Given the description of an element on the screen output the (x, y) to click on. 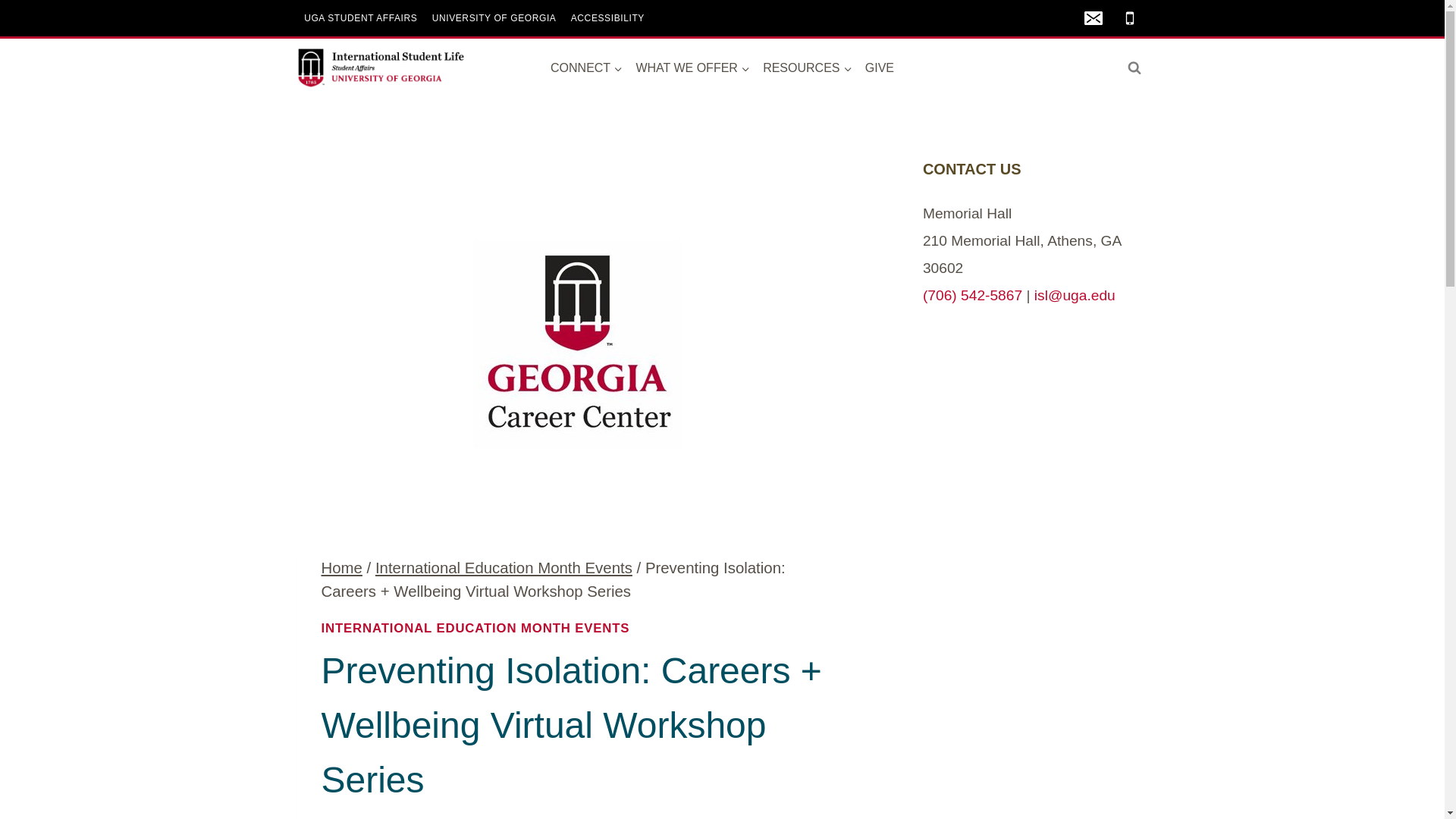
UNIVERSITY OF GEORGIA (494, 17)
INTERNATIONAL EDUCATION MONTH EVENTS (475, 627)
CONNECT (585, 67)
WHAT WE OFFER (692, 67)
International Education Month Events (503, 567)
ACCESSIBILITY (606, 17)
Home (341, 567)
RESOURCES (808, 67)
UGA STUDENT AFFAIRS (361, 17)
GIVE (879, 67)
